Given the description of an element on the screen output the (x, y) to click on. 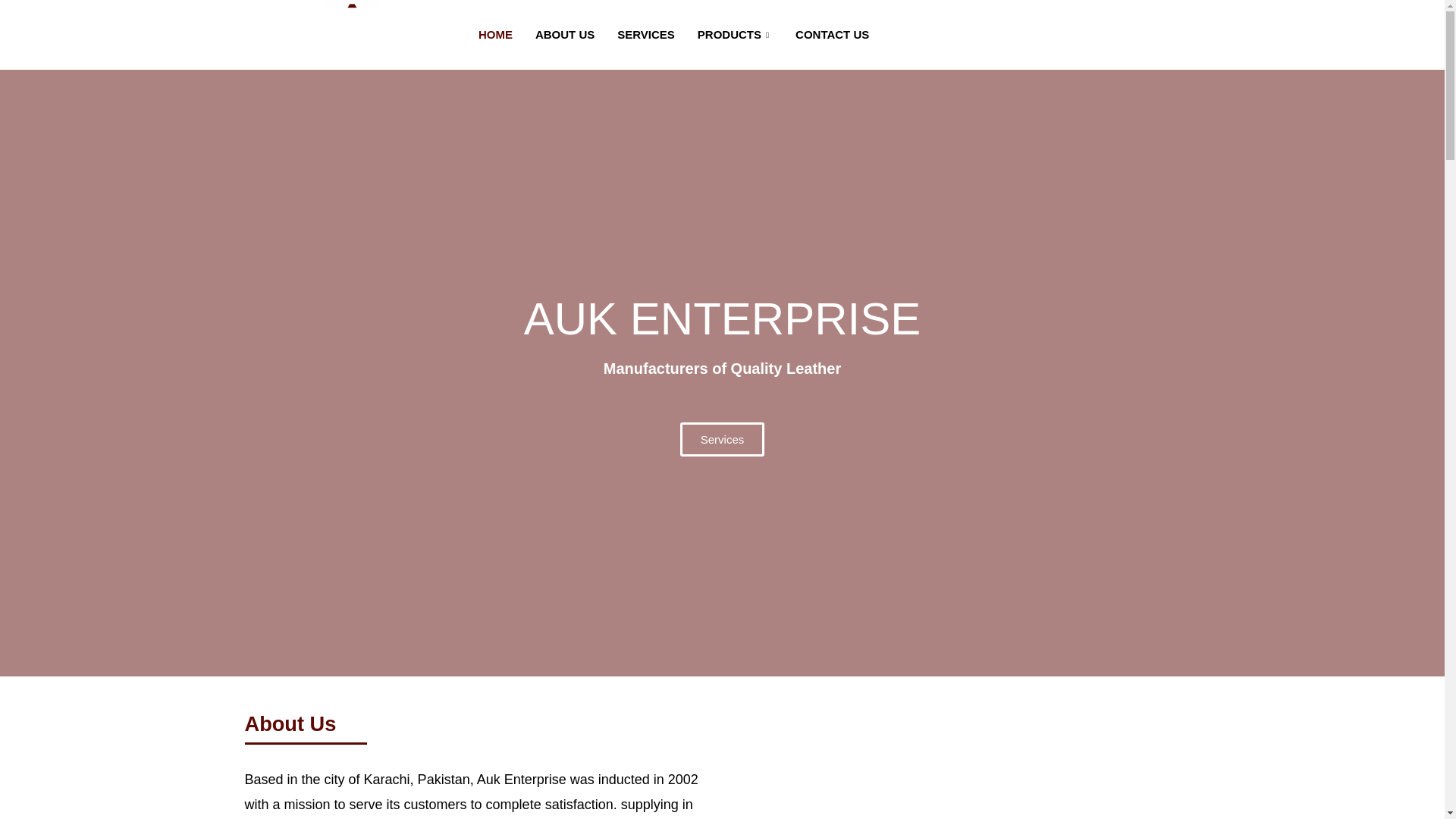
HOME (495, 34)
PRODUCTS (734, 34)
Services (722, 439)
SERVICES (645, 34)
ABOUT US (564, 34)
CONTACT US (832, 34)
